Given the description of an element on the screen output the (x, y) to click on. 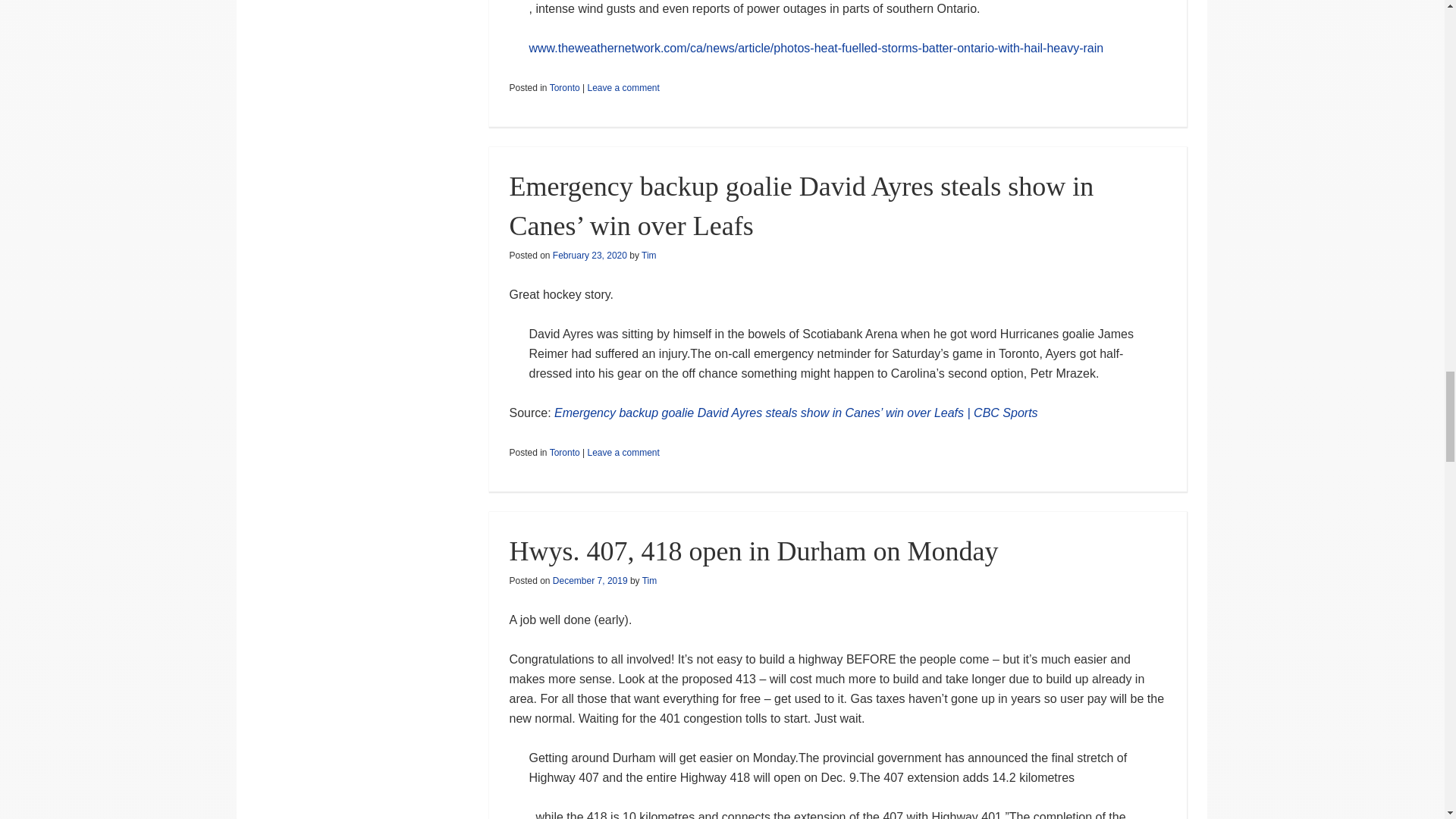
February 23, 2020 (590, 255)
Tim (650, 580)
Leave a comment (622, 452)
Leave a comment (622, 87)
4:24 am (590, 255)
Hwys. 407, 418 open in Durham on Monday (752, 551)
Toronto (564, 452)
Tim (649, 255)
View all posts by Tim (649, 255)
Toronto (564, 87)
